Given the description of an element on the screen output the (x, y) to click on. 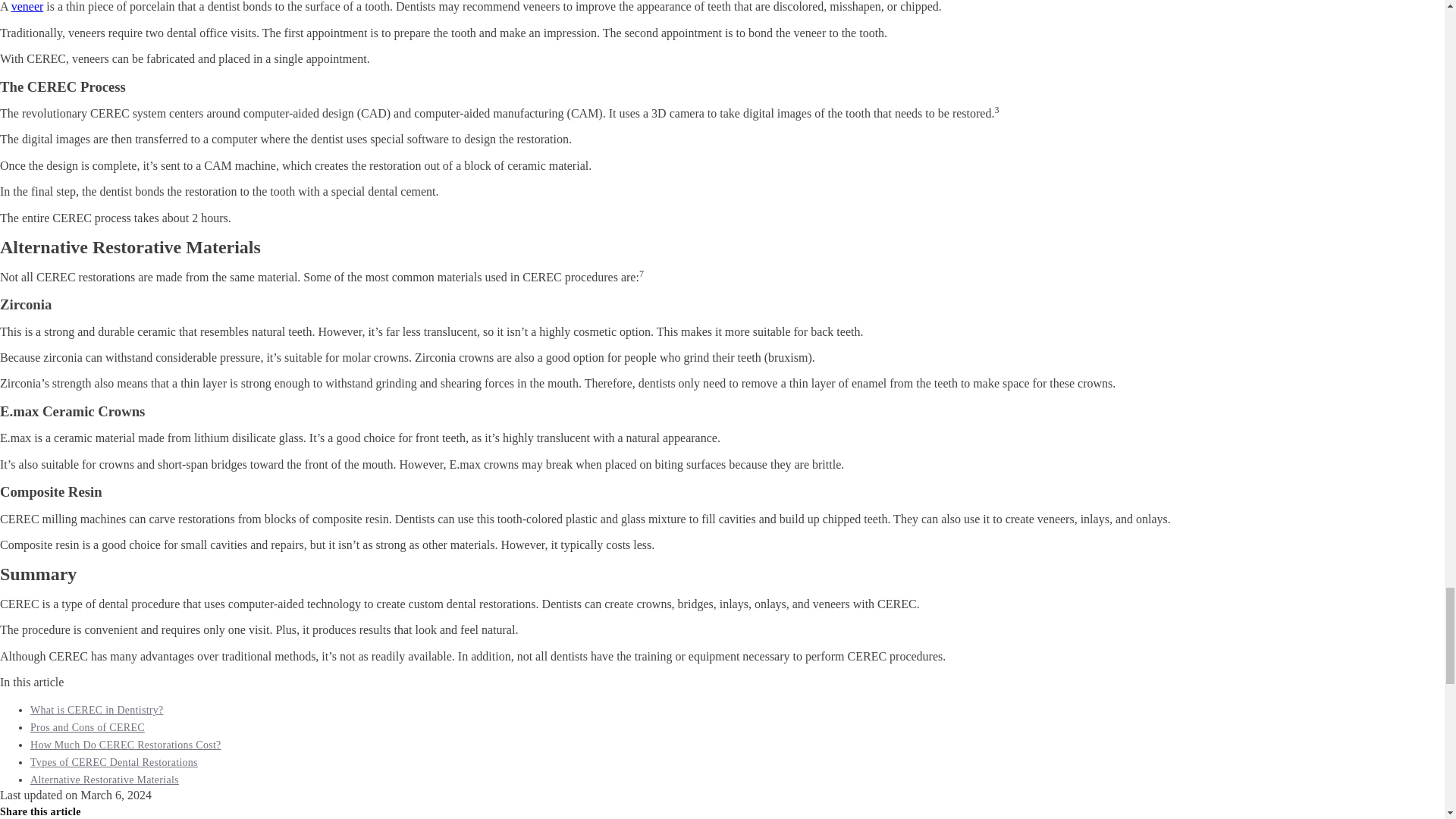
What is CEREC in Dentistry? (96, 709)
How Much Do CEREC Restorations Cost? (125, 745)
Types of CEREC Dental Restorations (114, 762)
Pros and Cons of CEREC (87, 727)
Alternative Restorative Materials (104, 779)
